Given the description of an element on the screen output the (x, y) to click on. 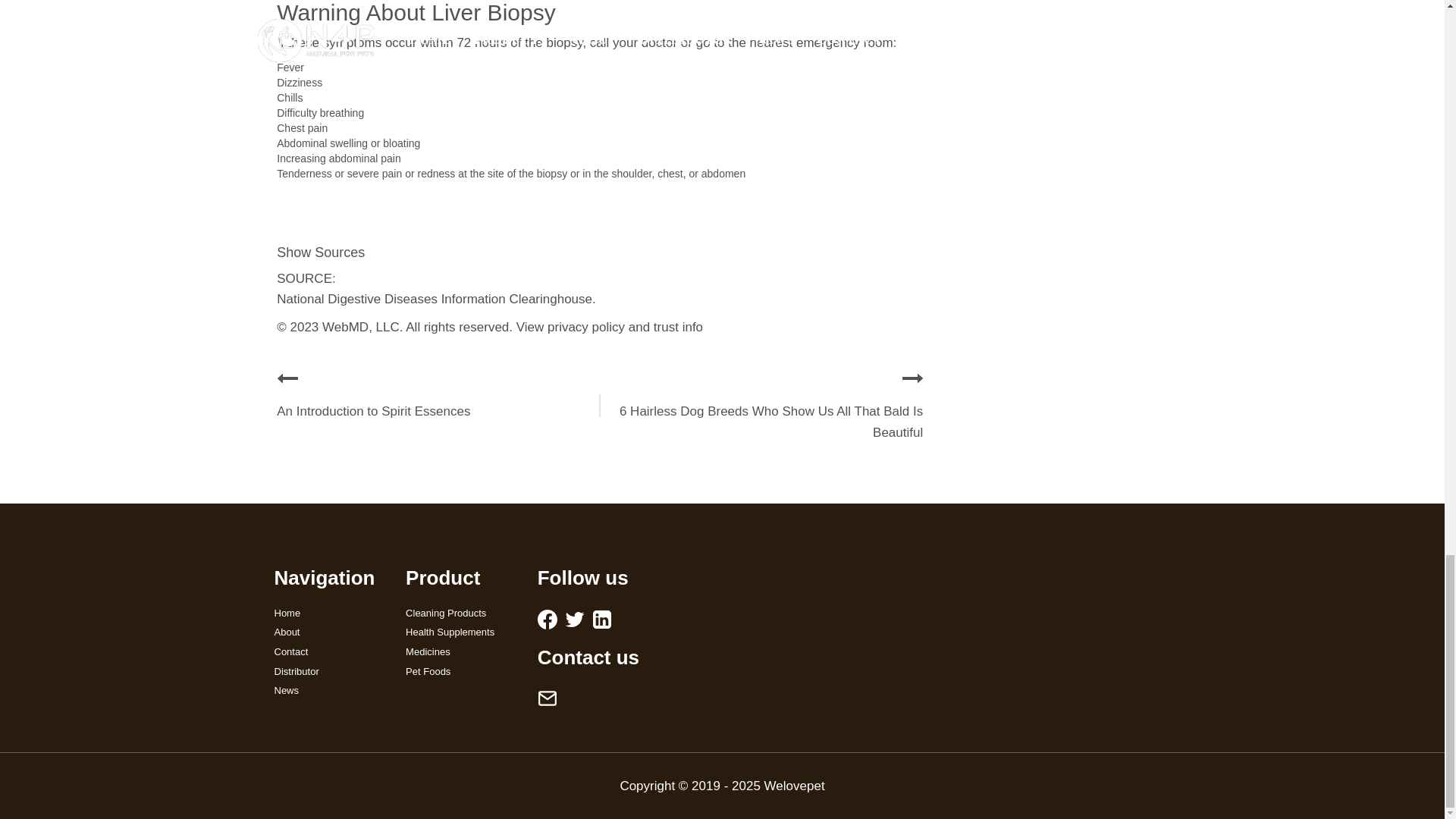
next article (912, 378)
Home (329, 613)
previous article (287, 378)
Twitter (574, 619)
Linkedin (601, 619)
6 Hairless Dog Breeds Who Show Us All That Bald Is Beautiful (771, 421)
An Introduction to Spirit Essences (373, 411)
